Given the description of an element on the screen output the (x, y) to click on. 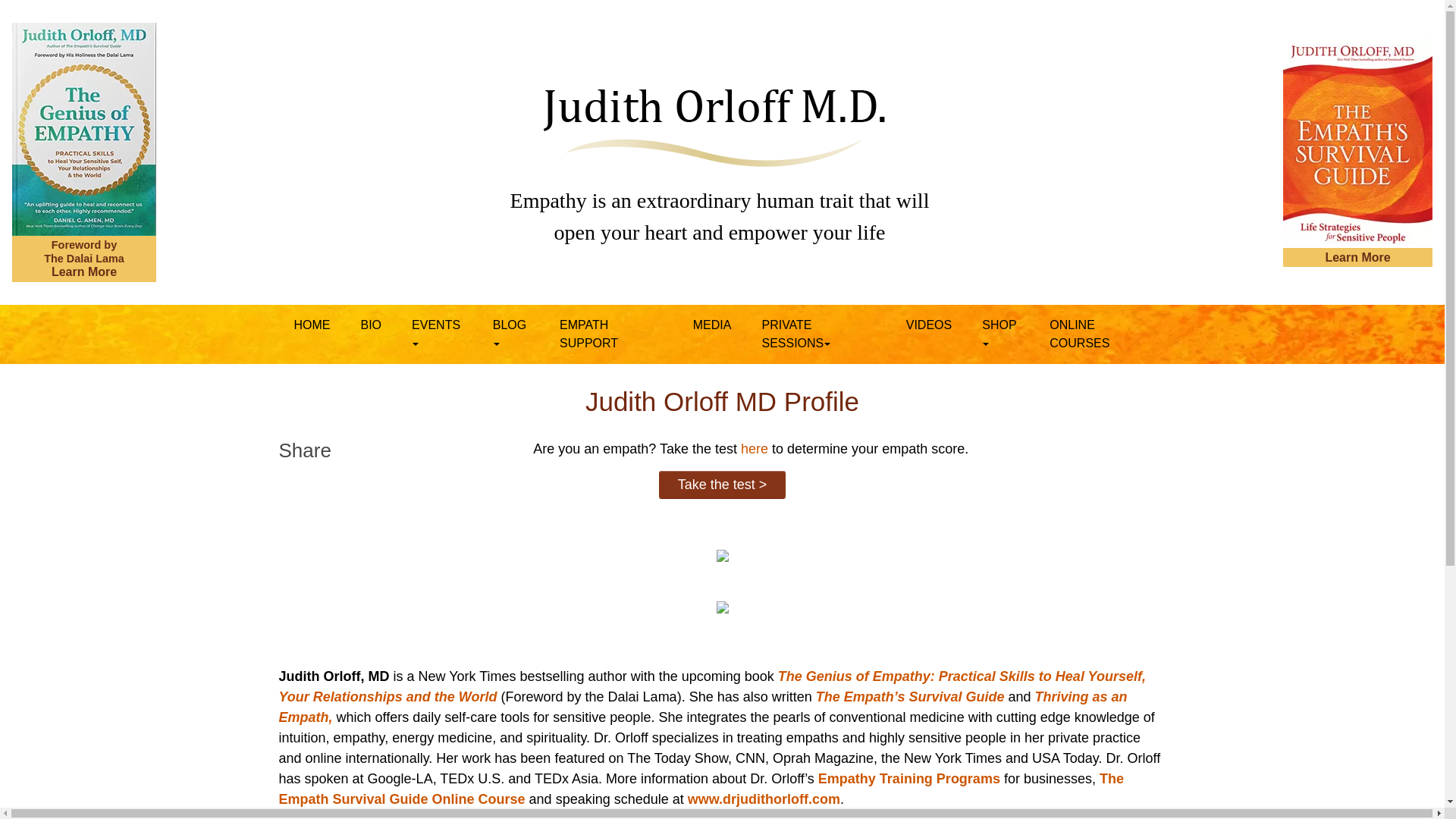
HOME (312, 324)
BLOG (510, 333)
Home (312, 324)
here (754, 448)
Bio (371, 324)
ONLINE COURSES (1099, 333)
Empath Support (611, 333)
EVENTS (436, 333)
Thriving as an Empath, (702, 706)
Private Sessions (817, 333)
